Given the description of an element on the screen output the (x, y) to click on. 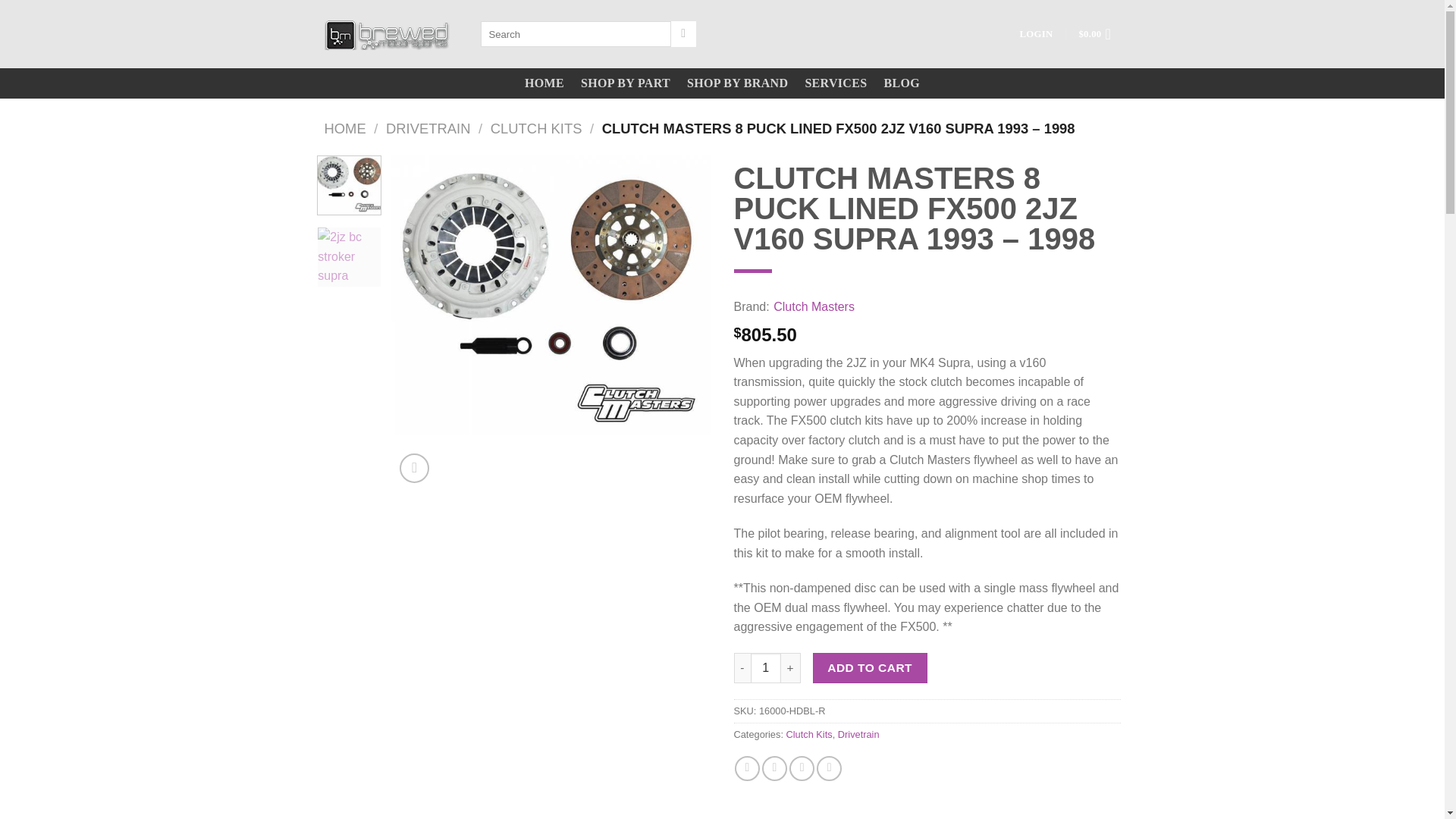
Share on Twitter (774, 768)
SHOP BY BRAND (737, 82)
Pin on Pinterest (828, 768)
SERVICES (835, 82)
View brand (813, 306)
SHOP BY PART (624, 82)
Share on Facebook (747, 768)
BLOG (901, 82)
HOME (544, 82)
Search (683, 33)
